Given the description of an element on the screen output the (x, y) to click on. 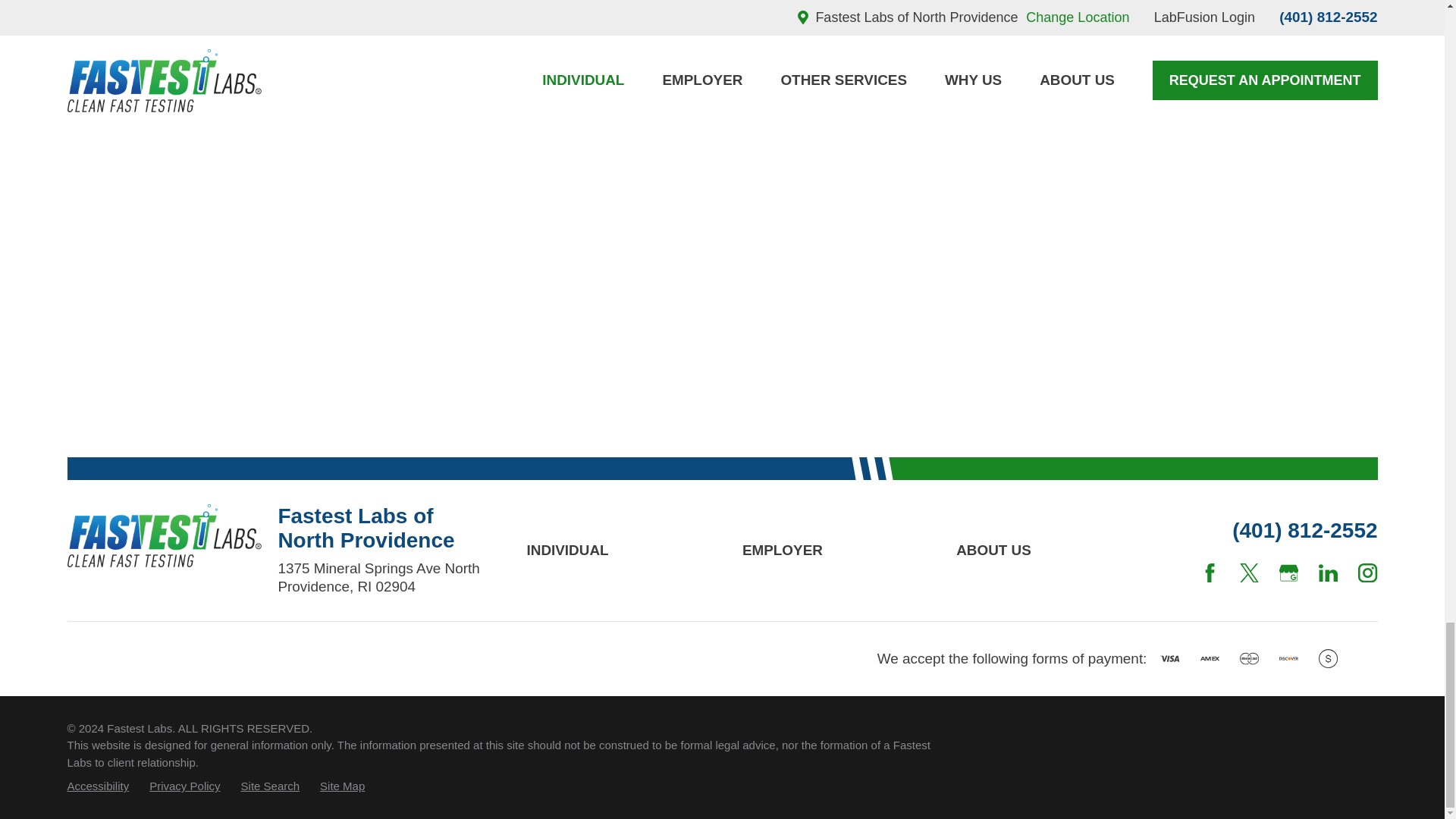
Home (163, 535)
Twitter (1249, 572)
Facebook (1209, 572)
